Given the description of an element on the screen output the (x, y) to click on. 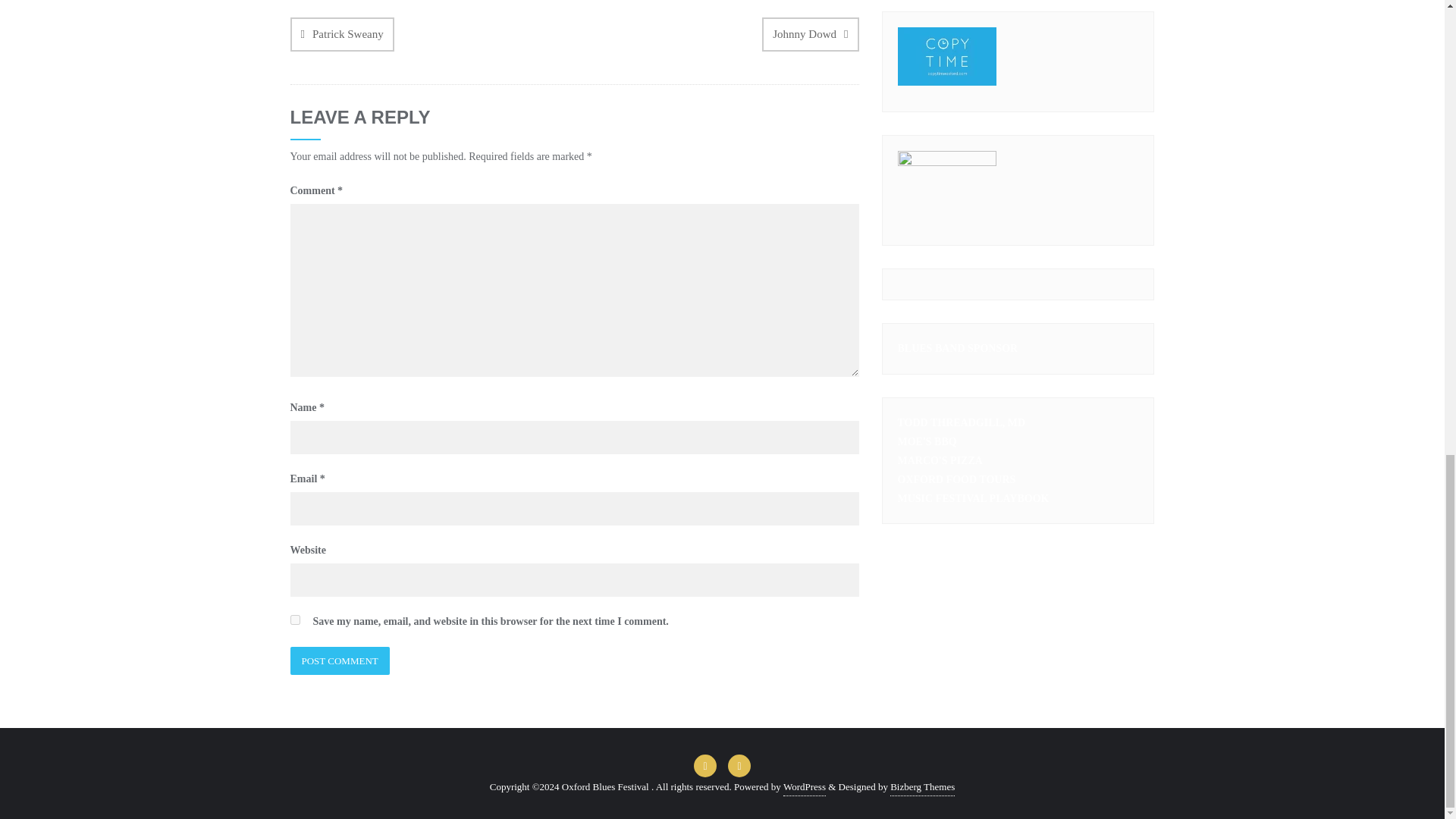
yes (294, 619)
Patrick Sweany (341, 34)
WordPress (804, 787)
Post Comment (338, 660)
Post Comment (338, 660)
Bizberg Themes (922, 787)
Johnny Dowd (810, 34)
